Given the description of an element on the screen output the (x, y) to click on. 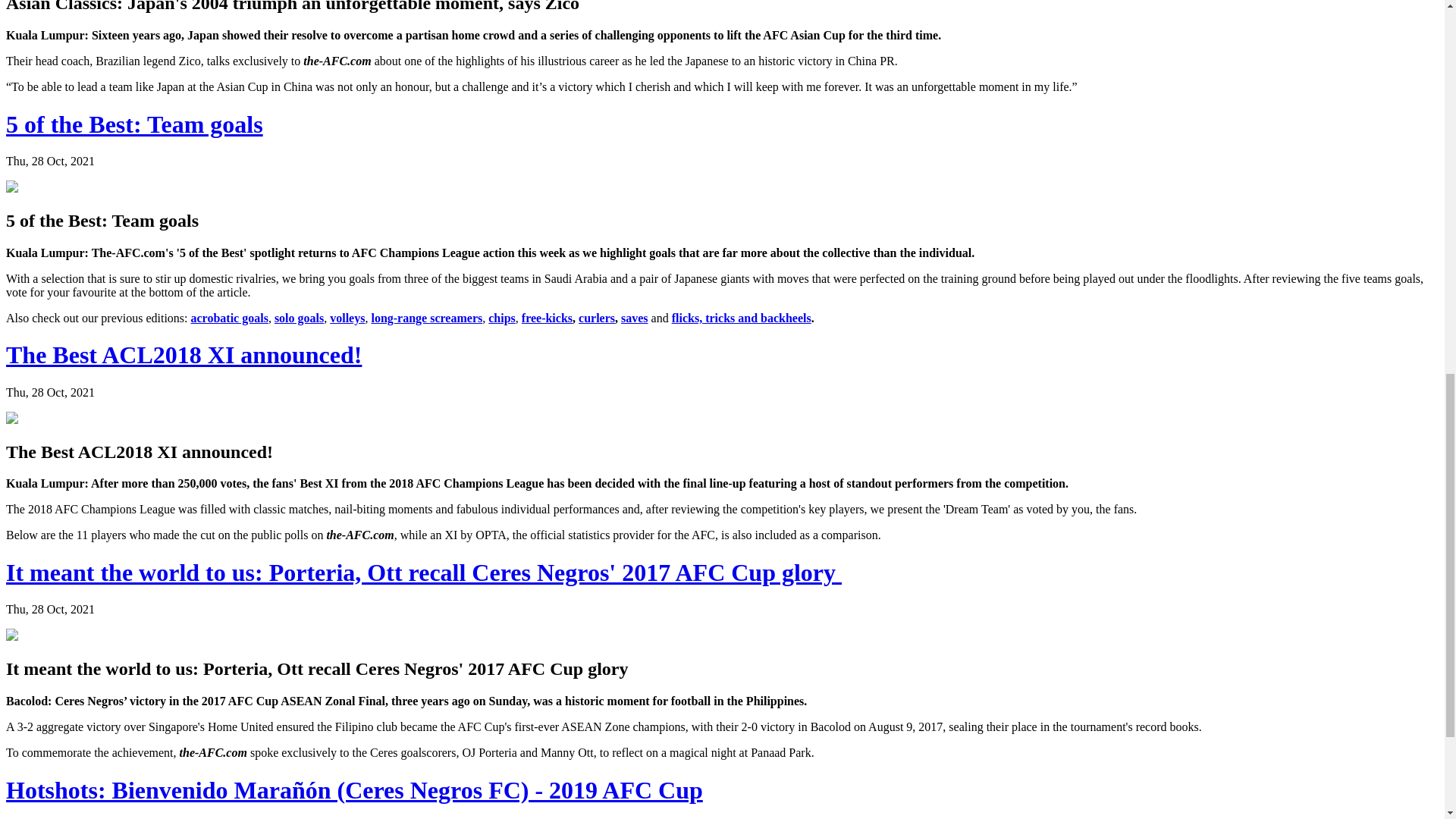
flicks, tricks and backheels (740, 318)
acrobatic goals (228, 318)
5 of the Best: Team goals (134, 124)
saves (634, 318)
solo goals (299, 318)
free-kicks (546, 318)
The Best ACL2018 XI announced! (183, 354)
volleys (347, 318)
long-range screamers (426, 318)
